Given the description of an element on the screen output the (x, y) to click on. 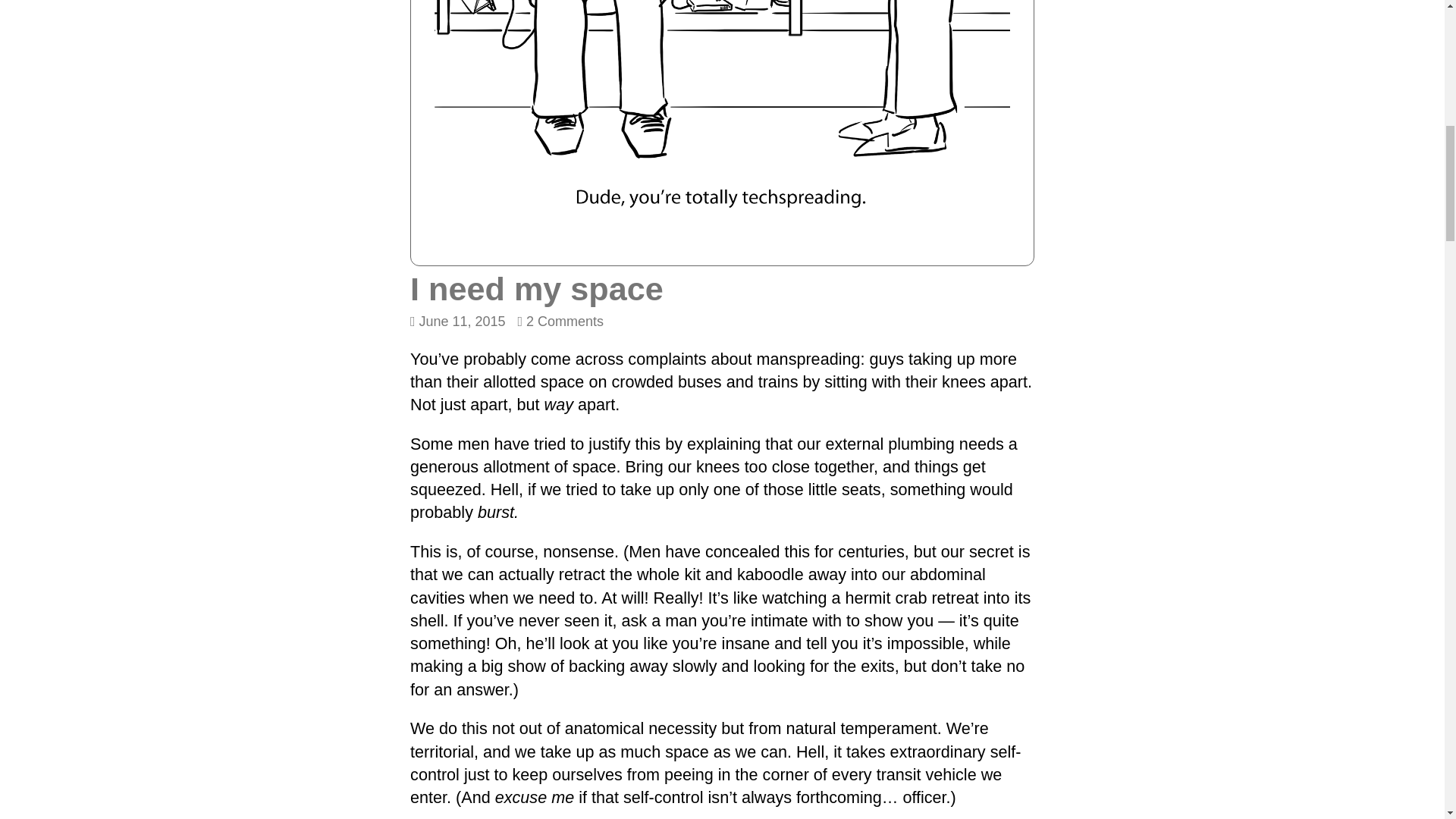
I need my space (561, 321)
